Given the description of an element on the screen output the (x, y) to click on. 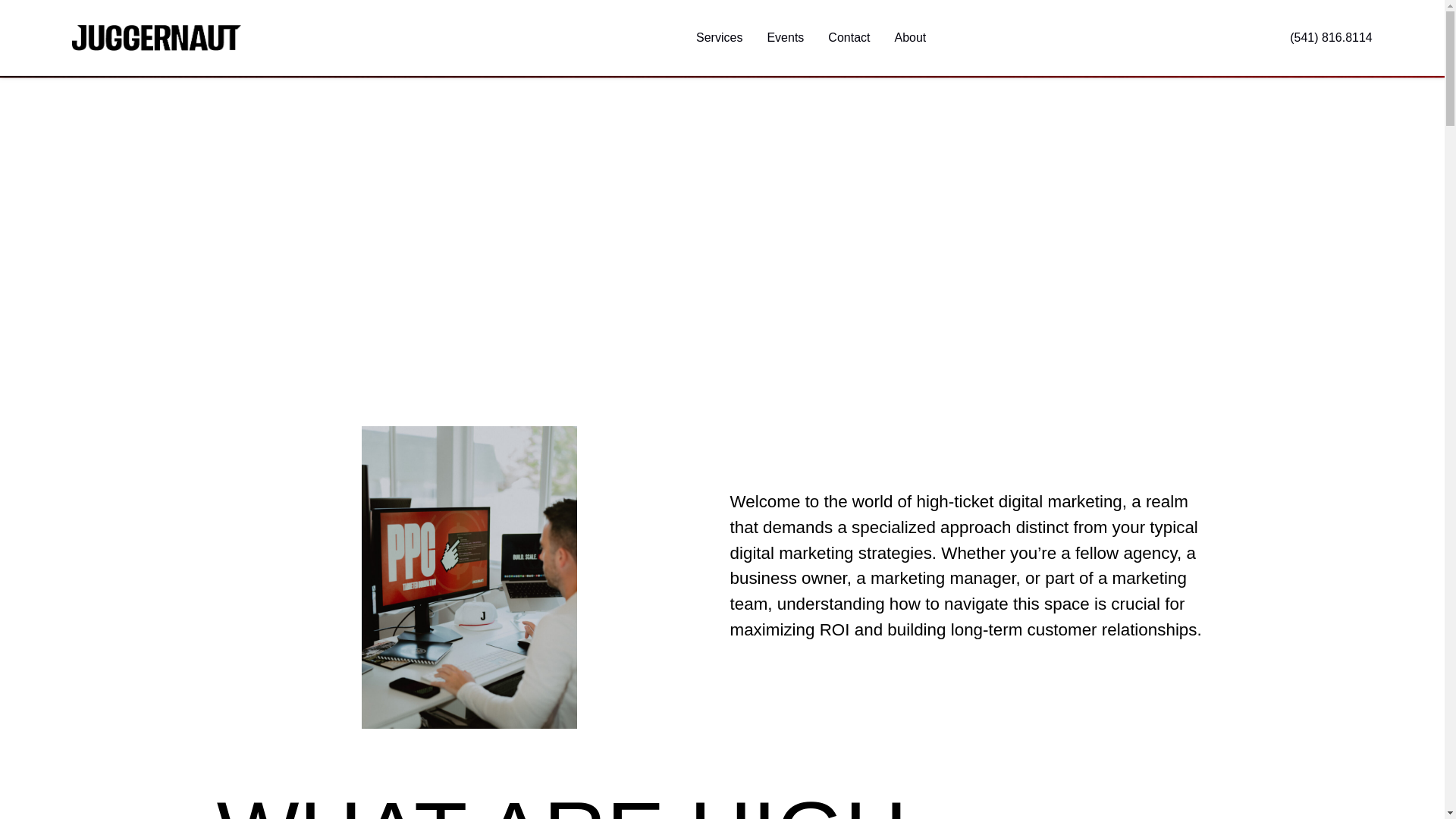
Events (785, 37)
Services (718, 37)
About (909, 37)
Contact (848, 37)
